Given the description of an element on the screen output the (x, y) to click on. 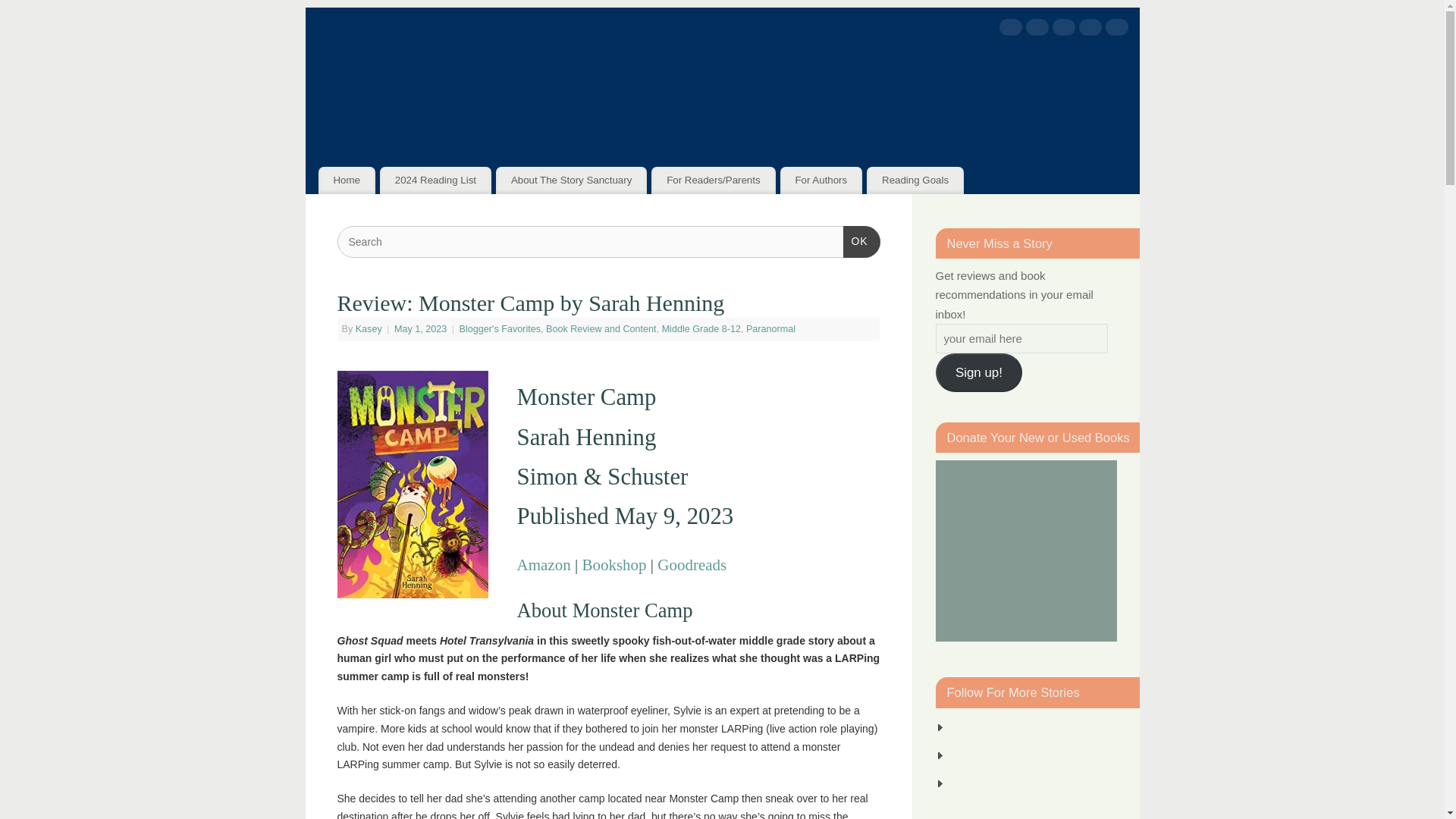
For Authors (821, 180)
Kasey (368, 328)
Amazon (1116, 29)
View all posts by Kasey (368, 328)
7:00 am (421, 328)
2024 Reading List (436, 180)
Paranormal (769, 328)
Goodreads (692, 565)
Blogger's Favorites (500, 328)
Middle Grade 8-12 (701, 328)
